Given the description of an element on the screen output the (x, y) to click on. 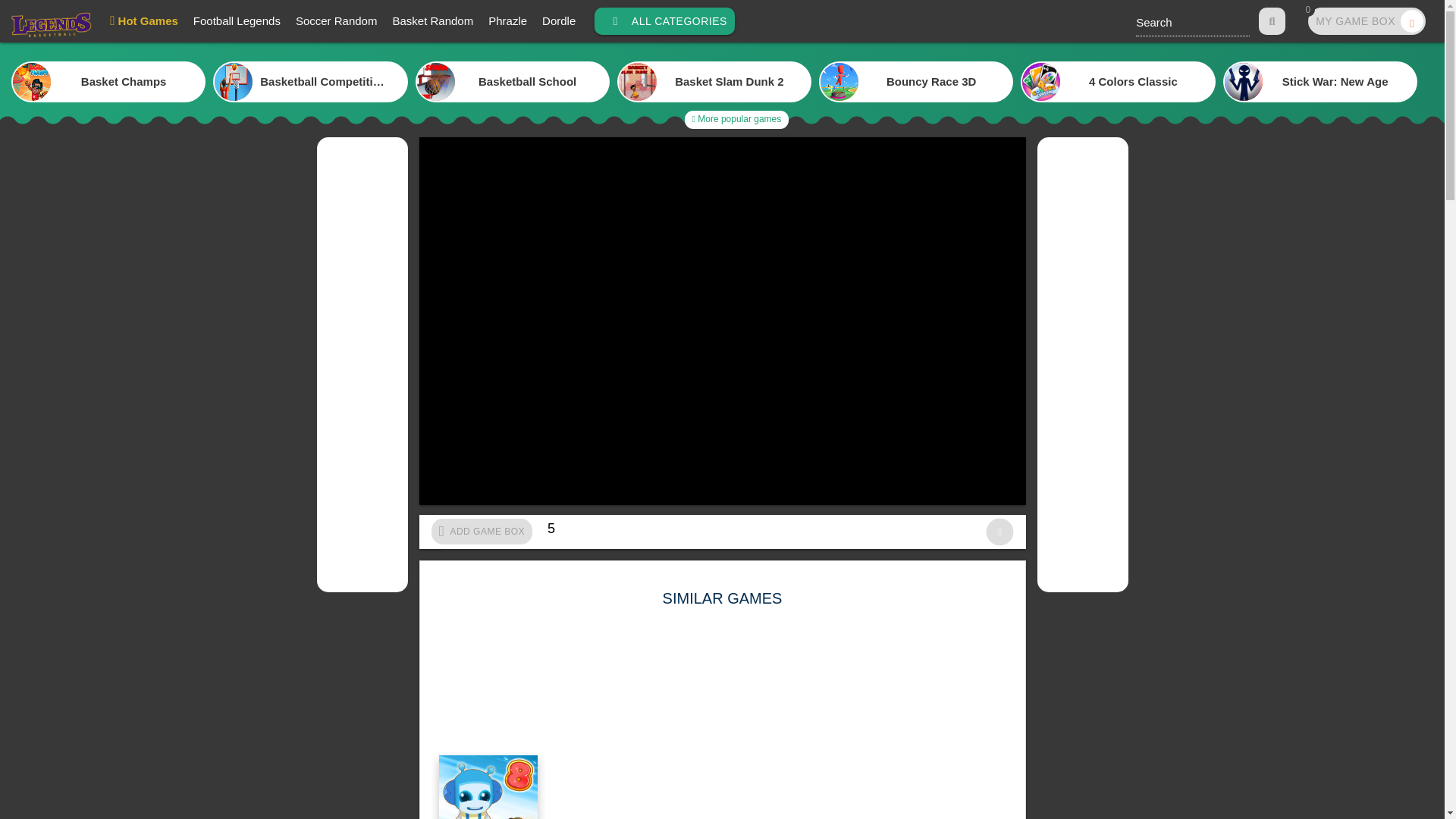
 Basket Slam Dunk 2 (713, 81)
Basketball Competition 3D (1366, 21)
 Stick War: New Age (309, 81)
Dordle (1319, 81)
More popular games (558, 21)
Stick War: New Age (736, 119)
 Basket Champs (1319, 81)
Basket Slam Dunk 2 (108, 81)
HOT Games (713, 81)
Football Legends (143, 21)
Basket Random (237, 21)
 Basketball Competition 3D (432, 21)
Bouncy Race 3D (309, 81)
Hot Games (915, 81)
